Given the description of an element on the screen output the (x, y) to click on. 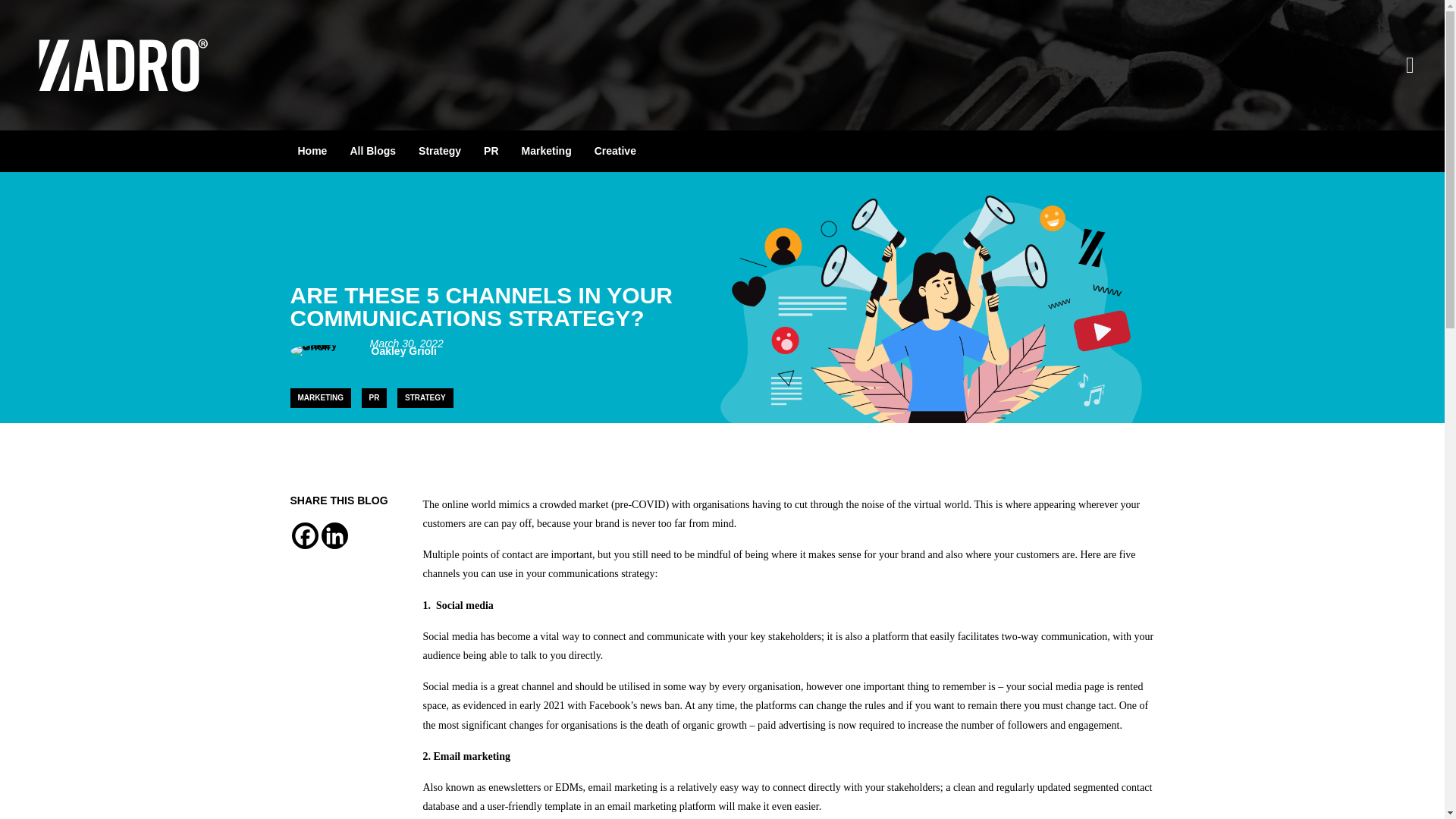
Linkedin (334, 535)
Facebook (304, 535)
